Given the description of an element on the screen output the (x, y) to click on. 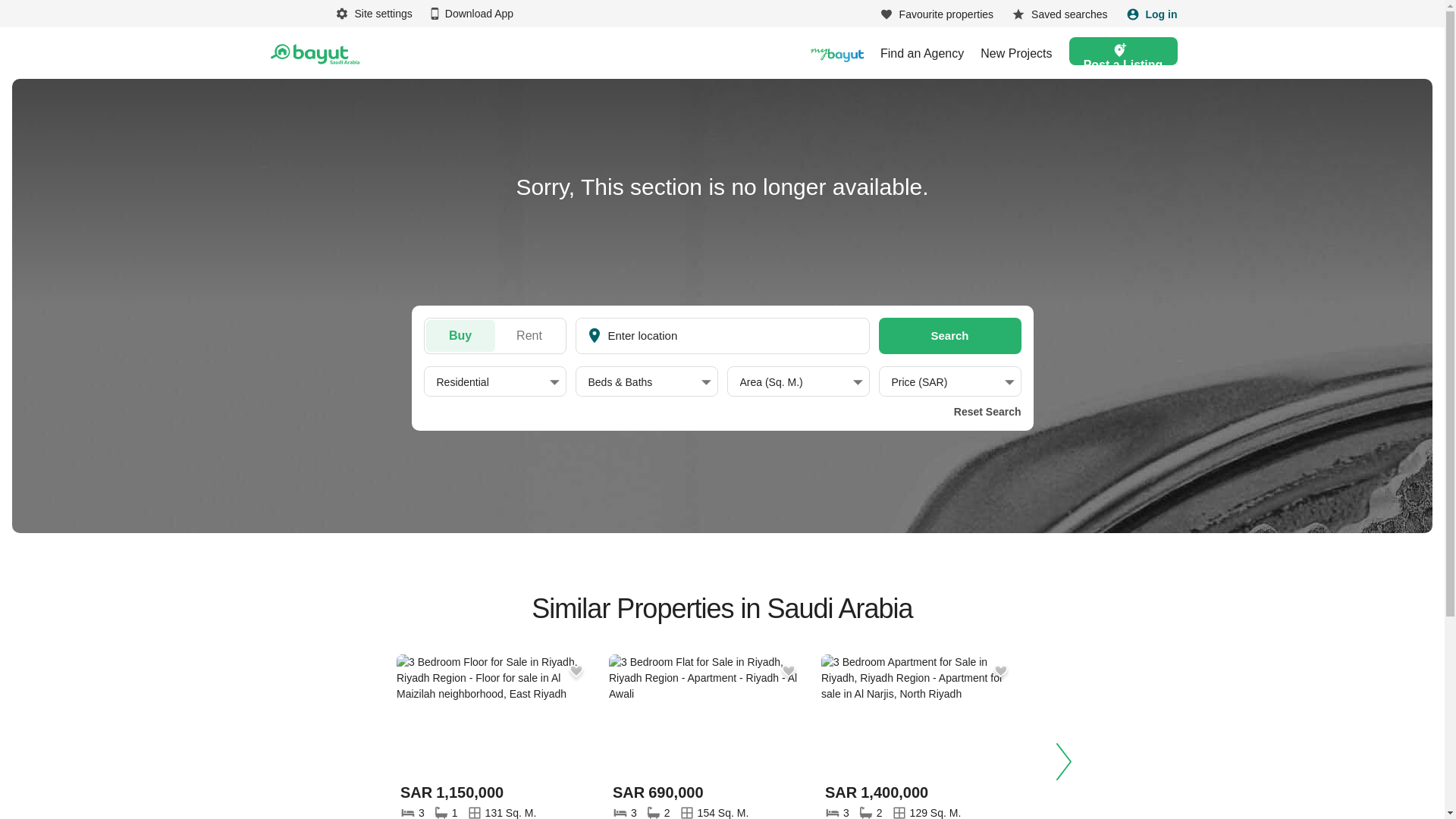
Find an Agency (921, 52)
Add to favourites (999, 671)
Reset Search (984, 411)
MyBayut (836, 53)
Saved searches (1058, 14)
Floor for sale in Al Maizilah neighborhood, East Riyadh (494, 714)
Post a Listing (1122, 50)
Buy (460, 336)
Apartment for sale in Al Narjis, North Riyadh (919, 714)
Search (948, 335)
Site settings (373, 13)
Favourite properties (936, 14)
Saved searches (1058, 14)
Bayut.sa Saudi Arabia Property Portal (313, 52)
